Given the description of an element on the screen output the (x, y) to click on. 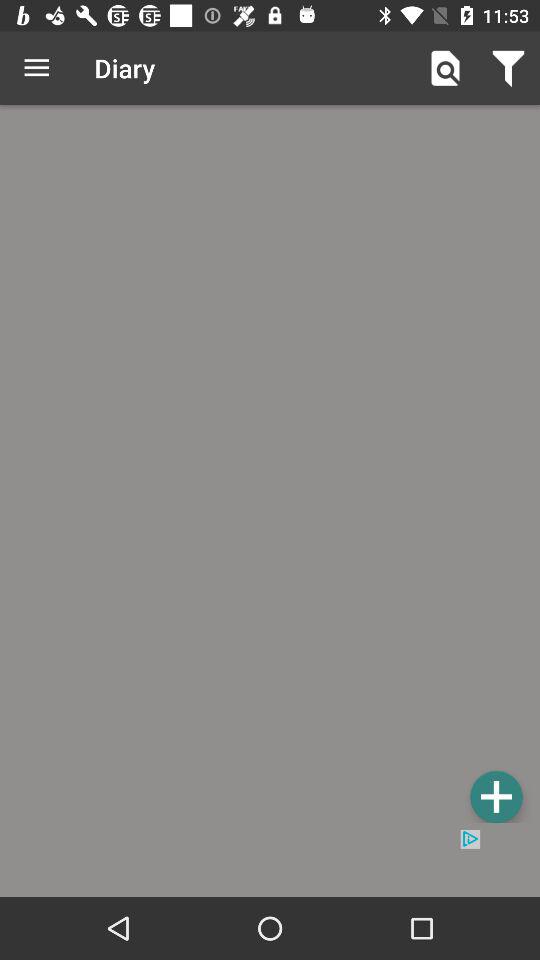
click icon to the right of diary icon (444, 67)
